Given the description of an element on the screen output the (x, y) to click on. 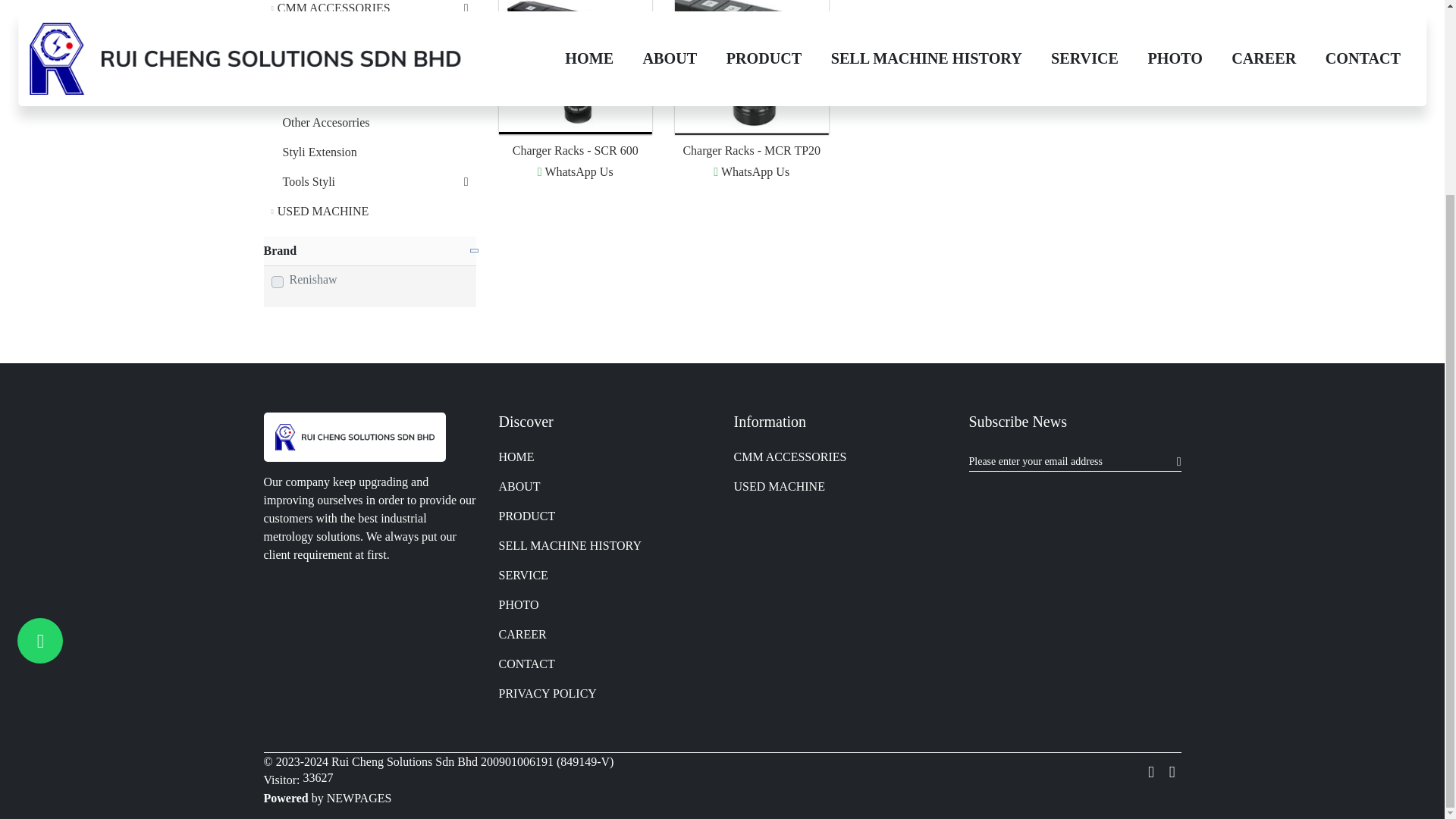
Styli Extension (377, 152)
Extension Bar (377, 63)
CMM ACCESSORIES (369, 10)
Modules (377, 93)
Charger Racks (377, 33)
Other Accesorries (377, 122)
Tools Styli (377, 181)
